Given the description of an element on the screen output the (x, y) to click on. 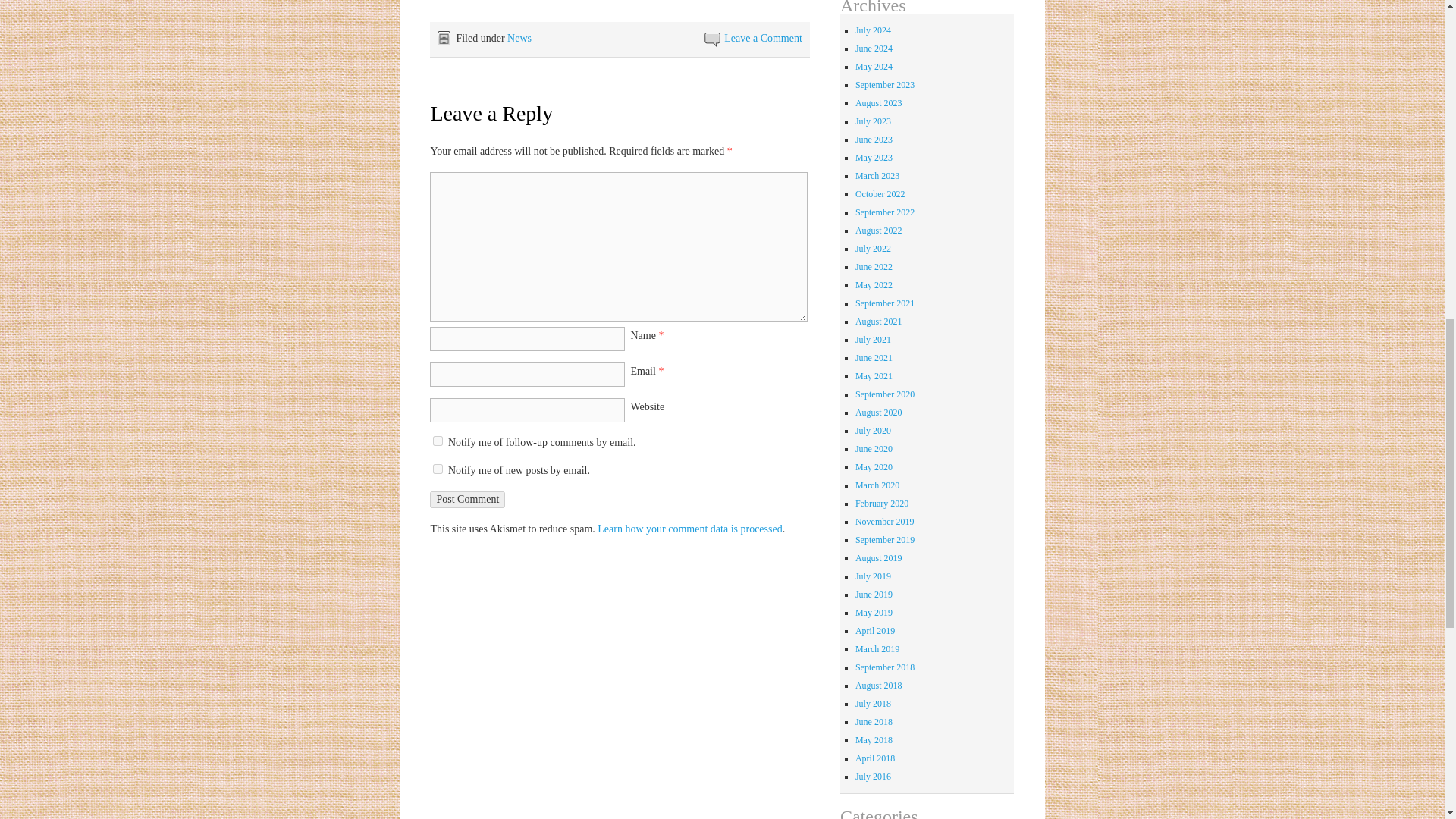
September 2023 (885, 84)
July 2023 (873, 121)
July 2024 (873, 30)
subscribe (437, 440)
Leave a Comment (762, 38)
August 2023 (879, 102)
Post Comment (467, 499)
News (518, 38)
June 2023 (874, 139)
subscribe (437, 469)
Learn how your comment data is processed (688, 528)
June 2024 (874, 48)
May 2024 (874, 66)
Post Comment (467, 499)
